Given the description of an element on the screen output the (x, y) to click on. 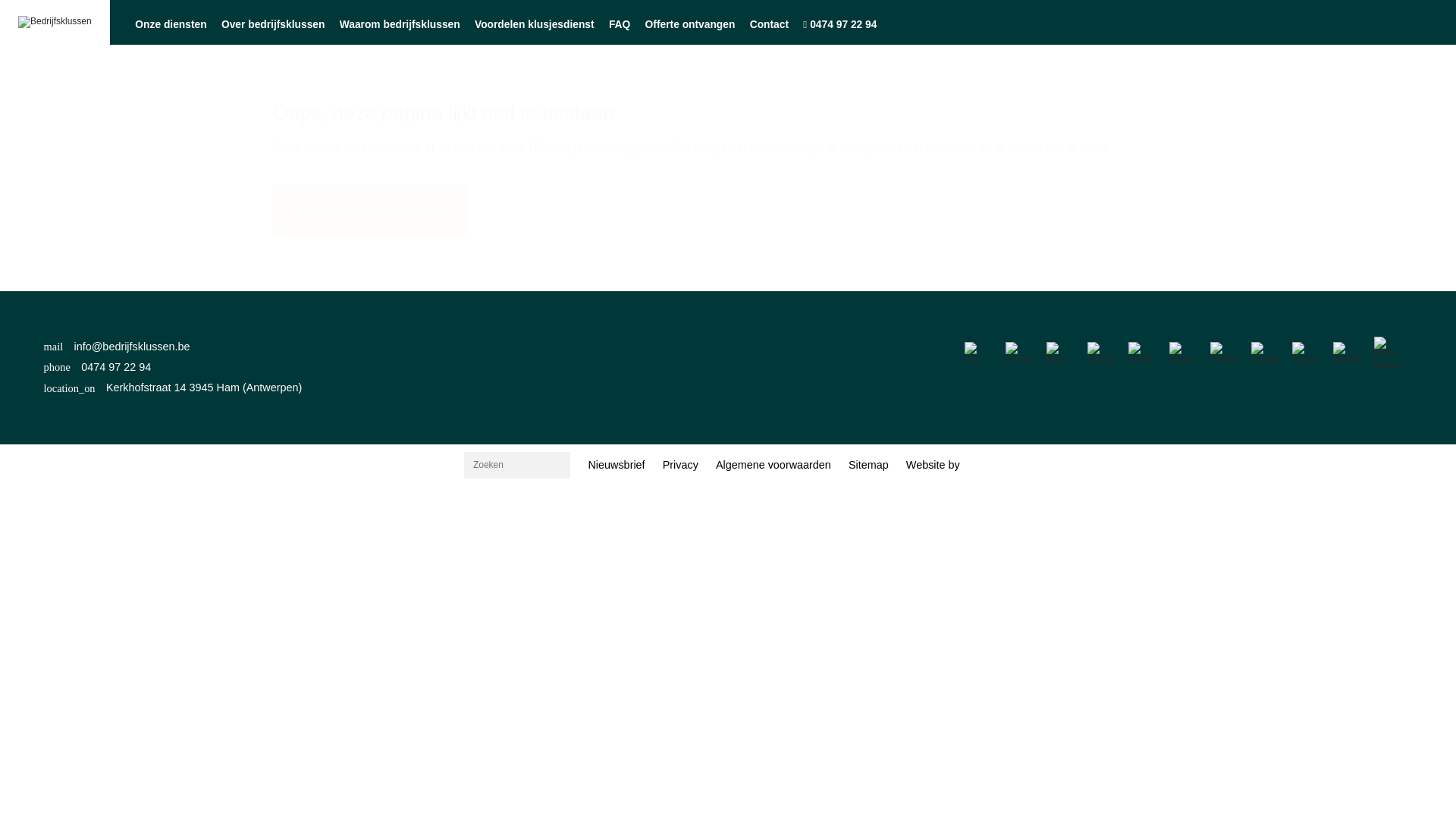
mail
info@bedrijfsklussen.be Element type: text (172, 346)
Privacy Element type: text (679, 465)
Ga terug naar de homepage Element type: text (369, 210)
Voordelen klusjesdienst Element type: text (534, 24)
Bedrijfsklussen Facebook Element type: hover (552, 348)
Webhero Element type: hover (977, 465)
Offerte ontvangen Element type: text (689, 24)
Bedrijfsklussen Youtube Element type: hover (610, 348)
Bedrijfsklussen Linkedin Element type: hover (581, 348)
location_on
Kerkhofstraat 14 3945 Ham (Antwerpen) Element type: text (172, 387)
Waarom bedrijfsklussen Element type: text (399, 24)
About.me Element type: hover (1141, 353)
Moz Element type: hover (1059, 353)
Sitemap Element type: text (868, 465)
Algemene voorwaarden Element type: text (772, 465)
Bedrijfsklussen Tumblr Element type: hover (696, 348)
Europages Element type: hover (1264, 353)
FAQ Element type: text (618, 24)
Bedrijfsklussen Soundcloud Element type: hover (754, 348)
Quora Element type: hover (1305, 353)
Bedrijfsklussen Twitter Element type: hover (639, 348)
x Element type: text (743, 424)
Handelsgids Element type: hover (1223, 353)
KMO insider Element type: hover (1387, 353)
phone
0474 97 22 94 Element type: text (172, 367)
Bedrijfsklussen Instagram Element type: hover (667, 348)
F6S Element type: hover (977, 353)
Website by Element type: text (933, 464)
Last.fm Element type: hover (1100, 353)
Contact Element type: text (768, 24)
Openingsuren Element type: hover (1346, 353)
Over bedrijfsklussen Element type: text (272, 24)
Nieuwsbrief Element type: text (616, 465)
Bedrijfsklussen Element type: hover (54, 21)
Bedrijfsklussen Vimeo Element type: hover (725, 348)
Onze diensten Element type: text (170, 24)
Zotero Element type: hover (1018, 353)
Disqus Element type: hover (1182, 353)
privacy policy Element type: text (760, 415)
